Given the description of an element on the screen output the (x, y) to click on. 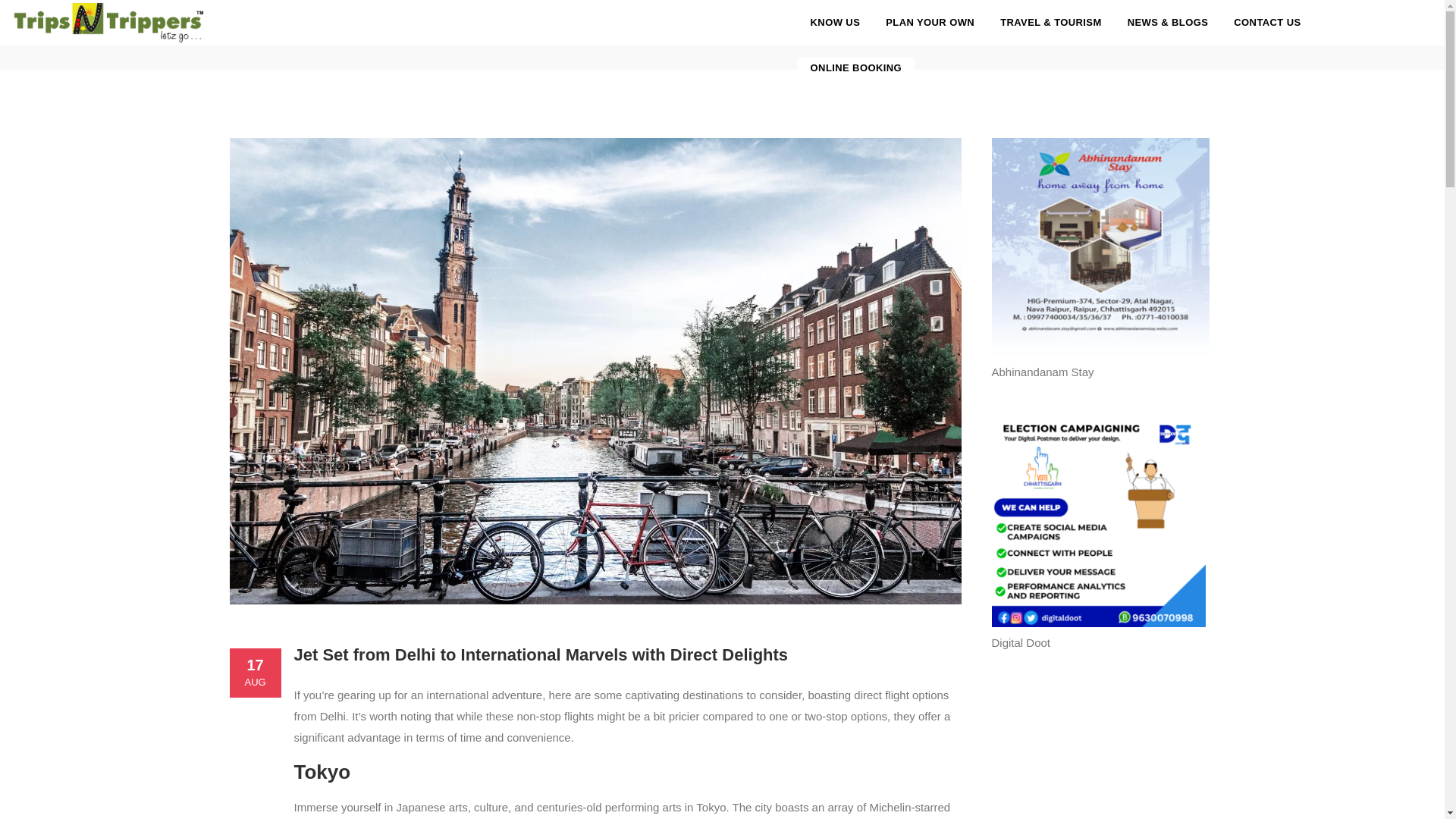
Contact Us (1267, 22)
CONTACT US (1267, 22)
PLAN YOUR OWN (929, 22)
KNOW US (835, 22)
ONLINE BOOKING (855, 67)
